Given the description of an element on the screen output the (x, y) to click on. 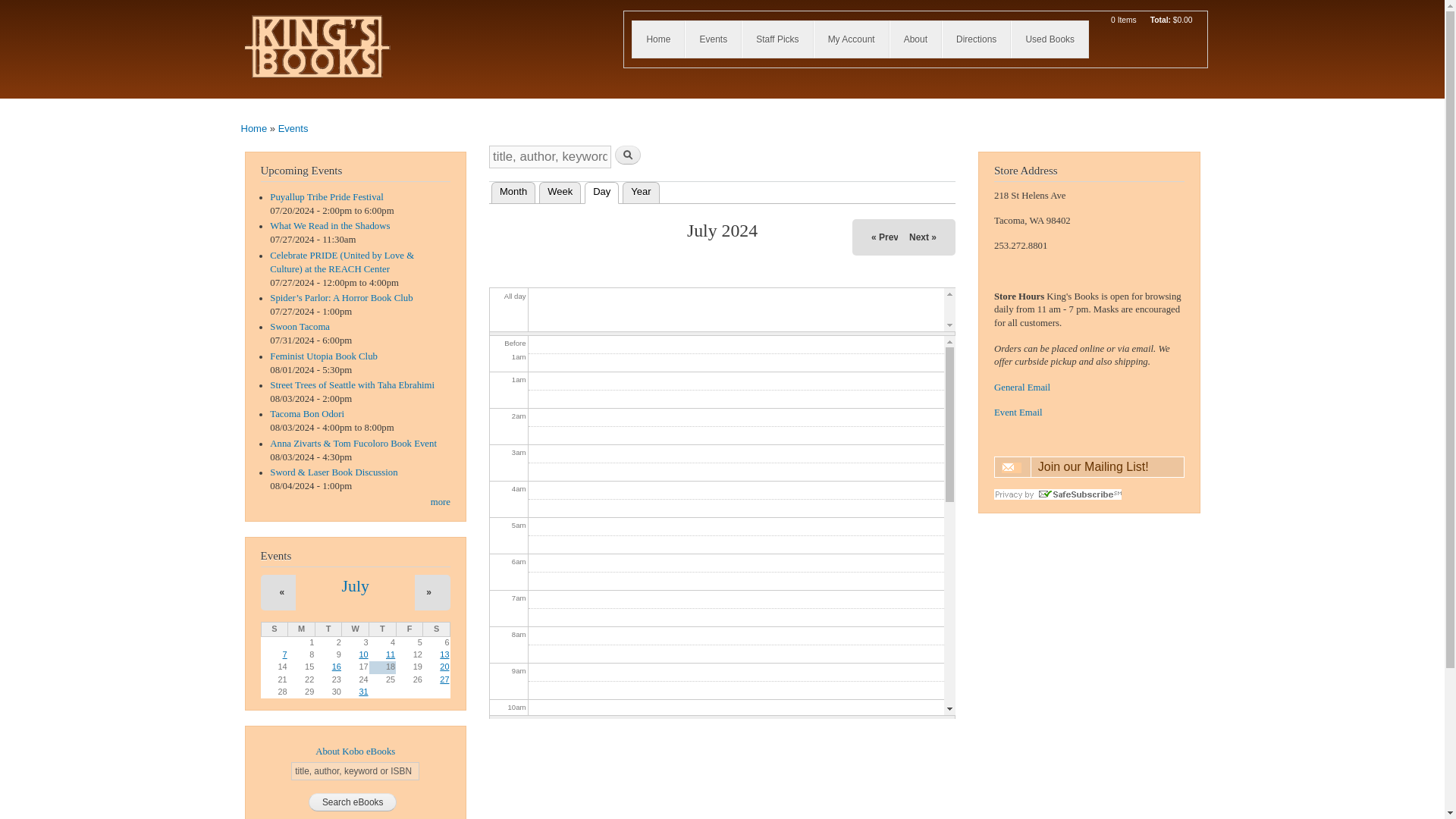
Navigate to next month (428, 592)
Enter title, author, keyword or ISBN. (355, 771)
Search (627, 154)
Swoon Tacoma (299, 326)
Week (559, 191)
King's Books Query (1021, 387)
Event Inquiry (1018, 412)
My Account (850, 39)
Navigate to previous month (282, 592)
Skip to main content (690, 1)
Month (513, 191)
Navigate to next month (922, 236)
Used Books (1049, 39)
Enter the terms you wish to search for. (550, 156)
Search eBooks (352, 802)
